Given the description of an element on the screen output the (x, y) to click on. 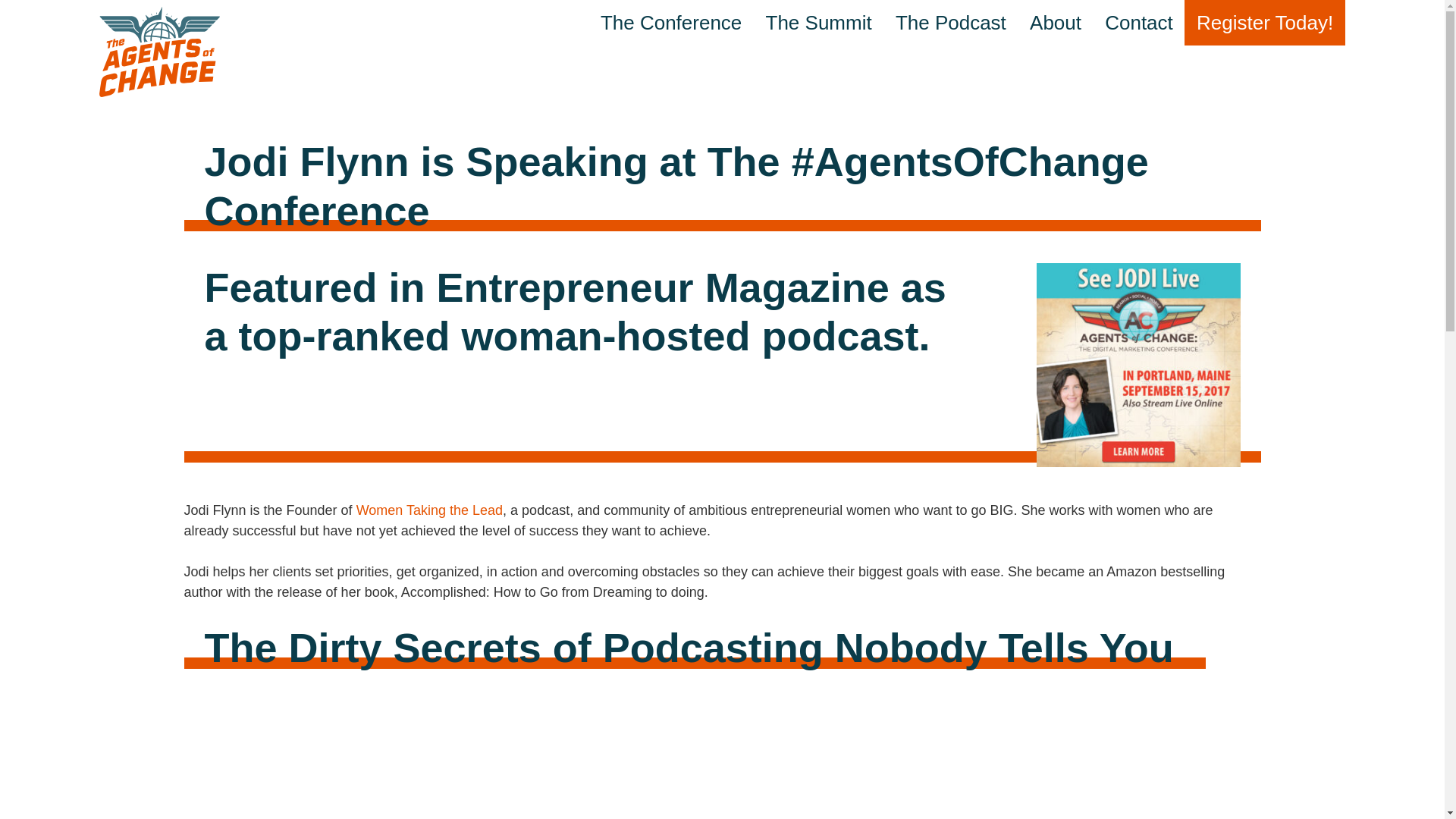
The Conference (671, 22)
